Given the description of an element on the screen output the (x, y) to click on. 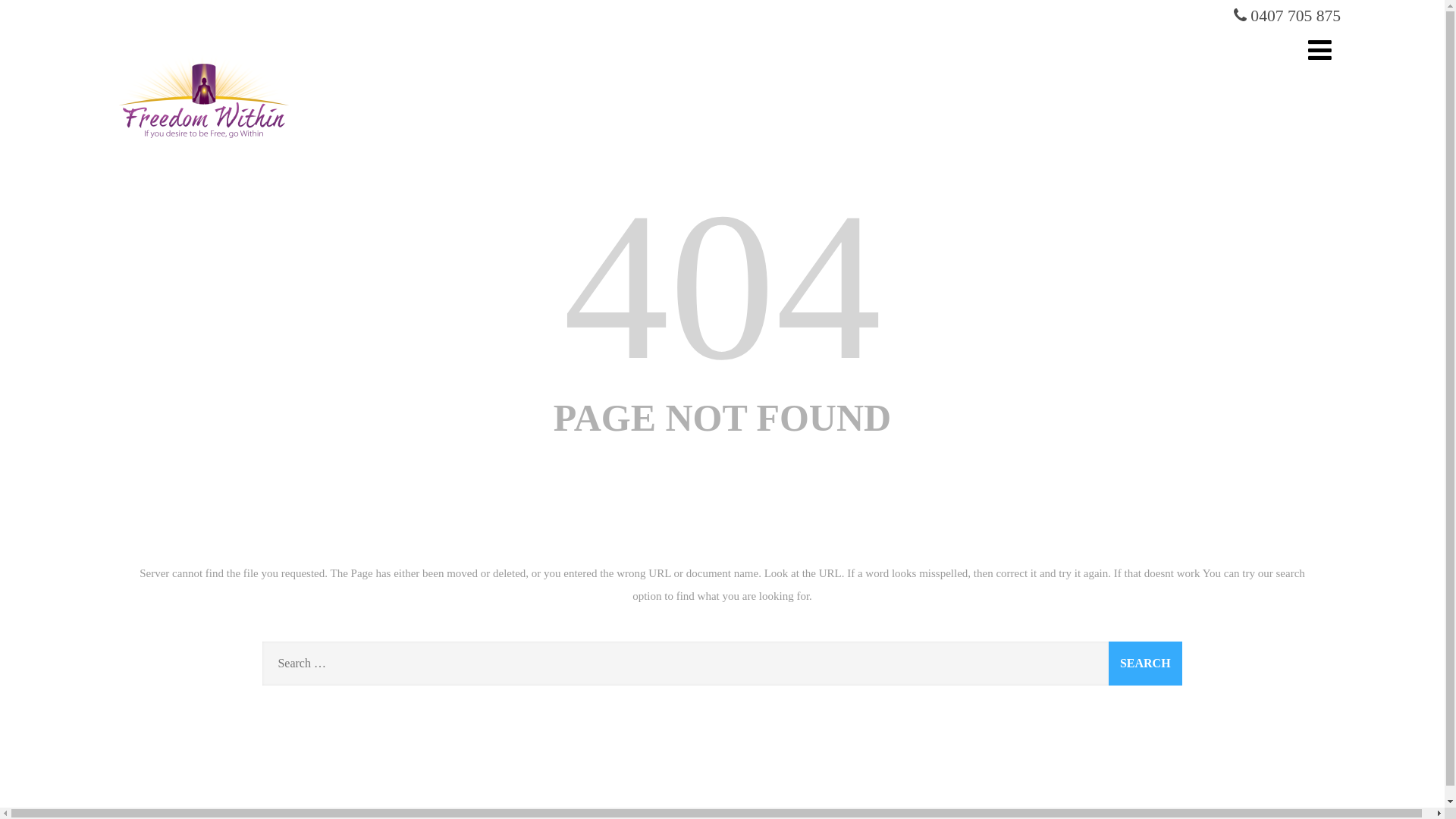
Search Element type: text (1145, 663)
Freedom Within Kinesiology Element type: hover (203, 141)
404 Element type: text (721, 286)
